Given the description of an element on the screen output the (x, y) to click on. 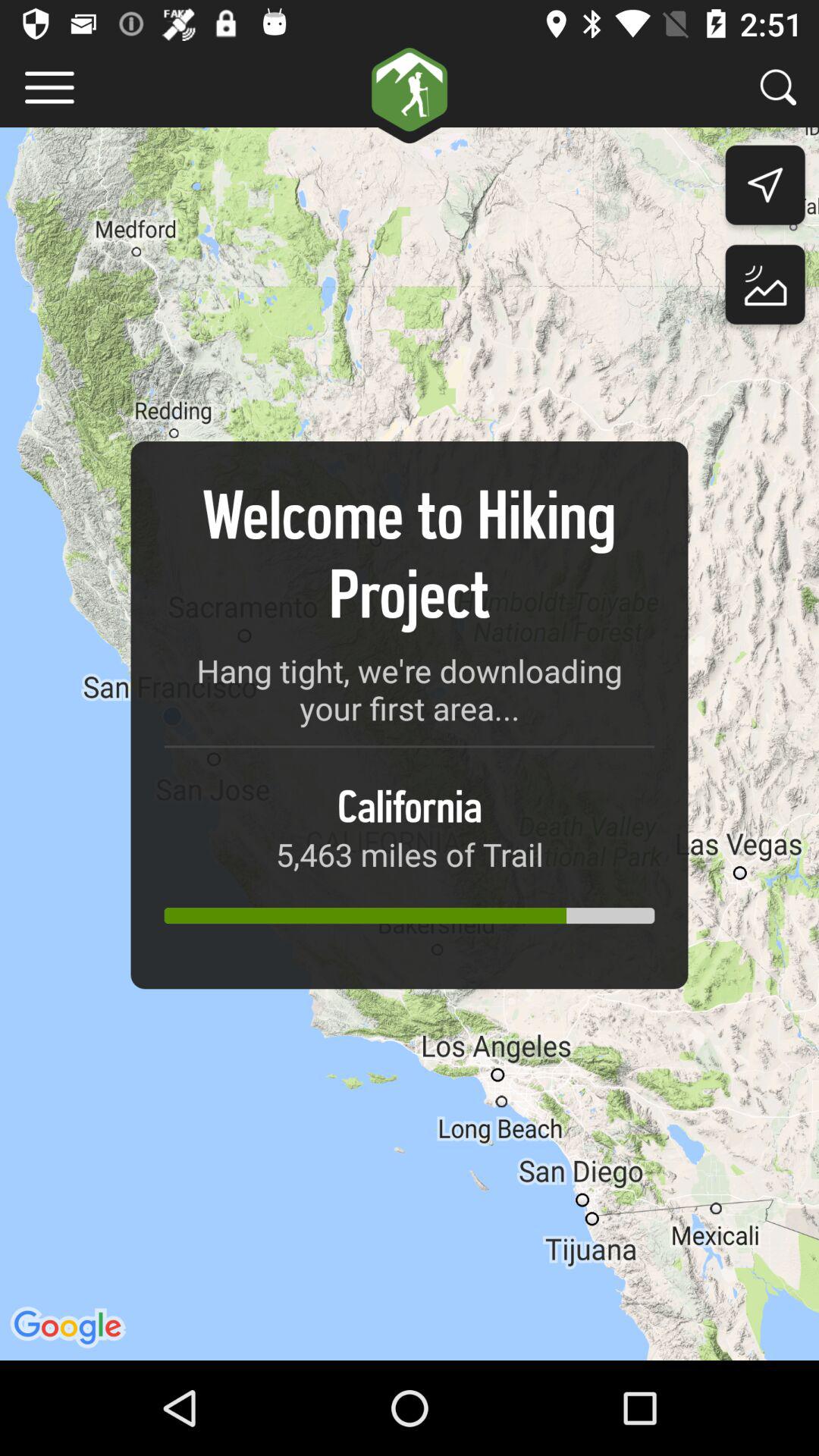
navigation menu (49, 87)
